Given the description of an element on the screen output the (x, y) to click on. 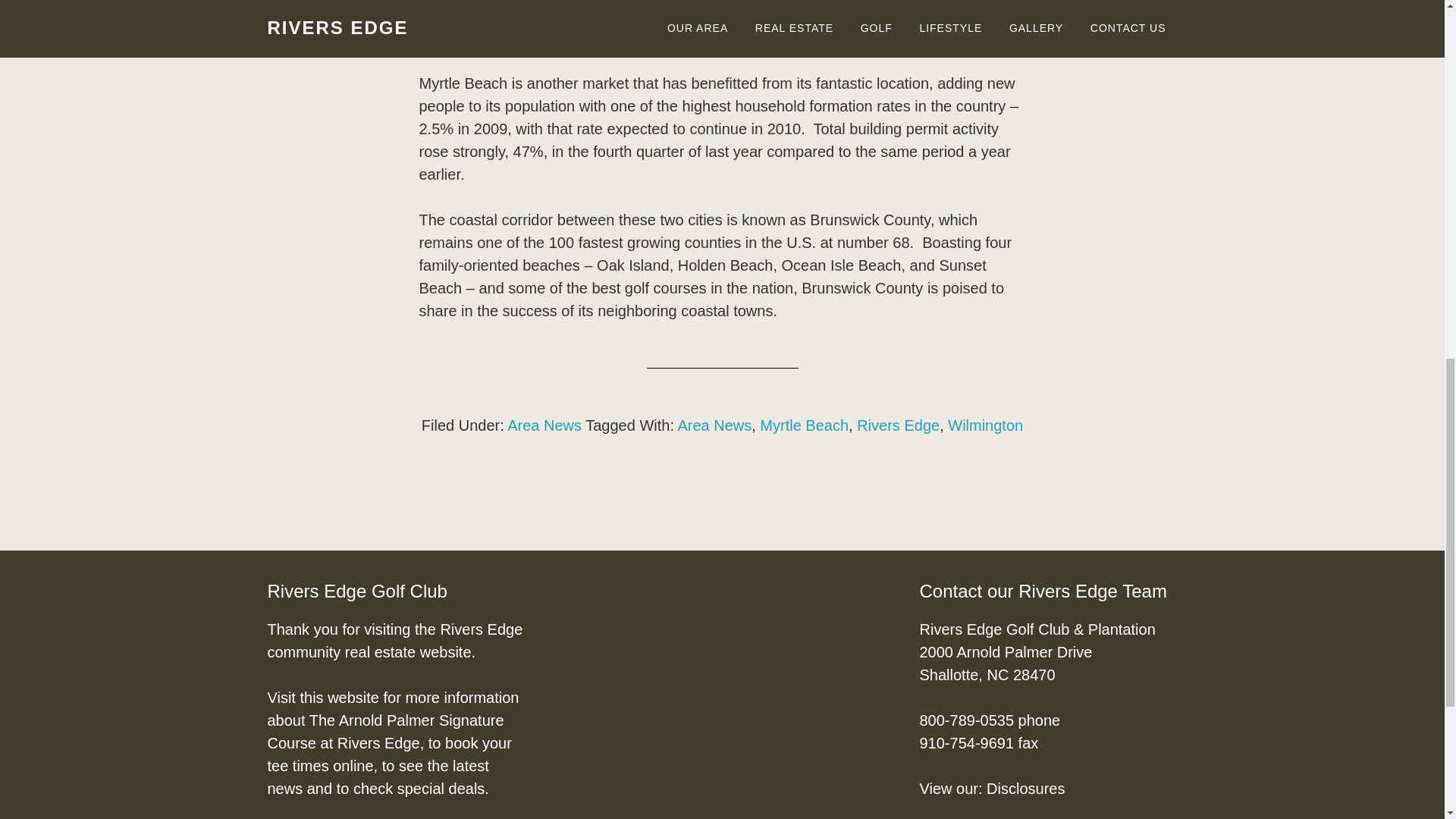
Area News (543, 425)
Area News (714, 425)
Rivers Edge (898, 425)
Disclosures (1025, 788)
Myrtle Beach (804, 425)
Wilmington (985, 425)
